Given the description of an element on the screen output the (x, y) to click on. 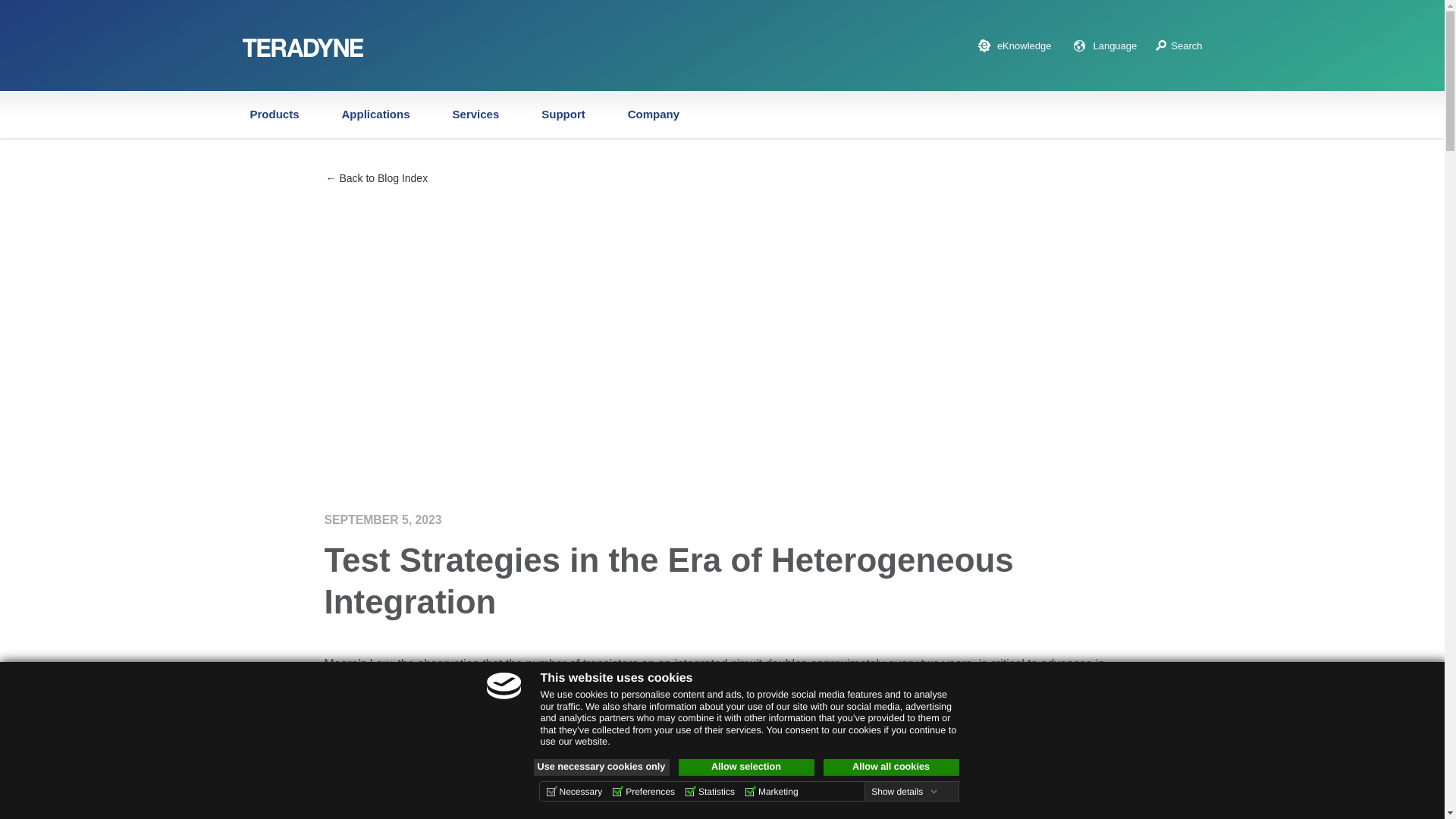
Use necessary cookies only (601, 767)
Allow selection (745, 767)
Allow all cookies (891, 767)
Show details (903, 791)
